Given the description of an element on the screen output the (x, y) to click on. 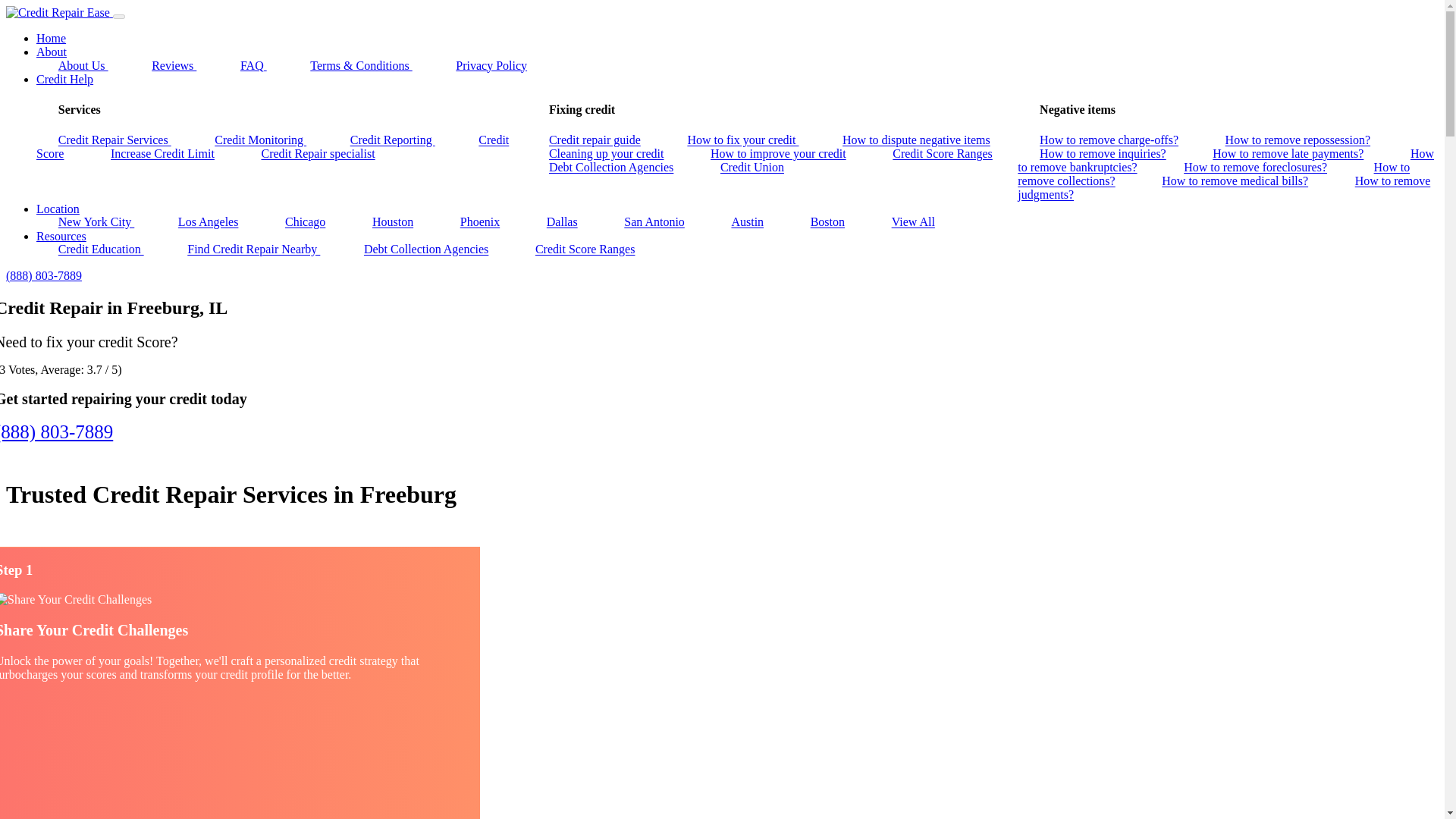
How to remove judgments? (1223, 187)
How to remove late payments? (1288, 153)
How to remove repossession? (1297, 139)
Credit Help (64, 78)
Credit Repair specialist (318, 153)
Credit Score (272, 146)
How to remove foreclosures? (1254, 167)
Dallas (561, 221)
Credit Union (752, 167)
How to remove bankruptcies? (1225, 160)
Los Angeles (207, 221)
How to remove medical bills? (1234, 180)
How to remove collections? (1213, 174)
How to fix your credit (743, 139)
Credit repair guide (594, 139)
